Given the description of an element on the screen output the (x, y) to click on. 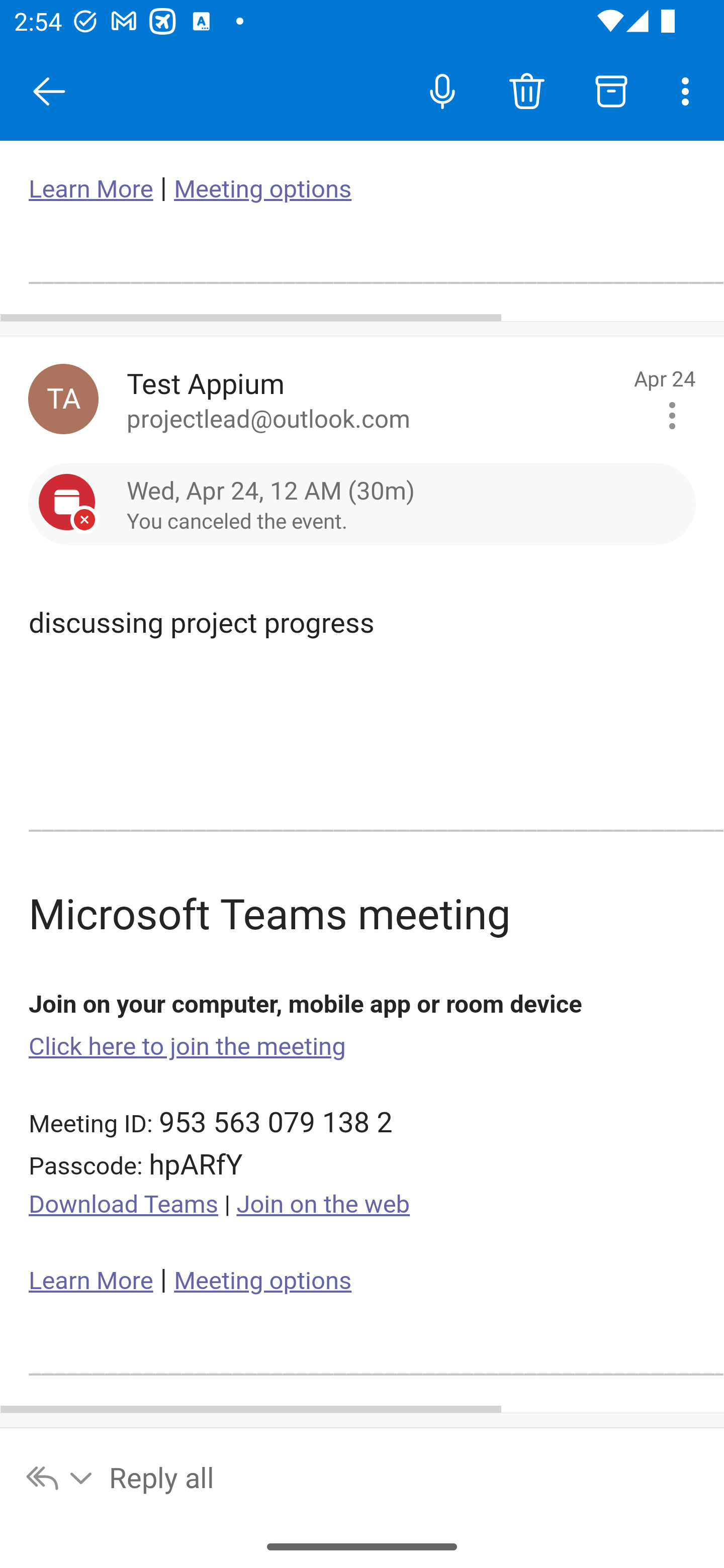
Close (49, 91)
Delete (526, 90)
Archive (611, 90)
More options (688, 90)
Learn More (90, 189)
Meeting options (262, 189)
Test Appium, testappium002@outlook.com (63, 398)
Test Appium
to projectlead@outlook.com (372, 398)
Message actions (671, 416)
Click here to join the meeting (187, 1046)
Download Teams (124, 1204)
Join on the web (323, 1204)
Learn More (90, 1280)
Meeting options (262, 1280)
Reply options (59, 1476)
